Given the description of an element on the screen output the (x, y) to click on. 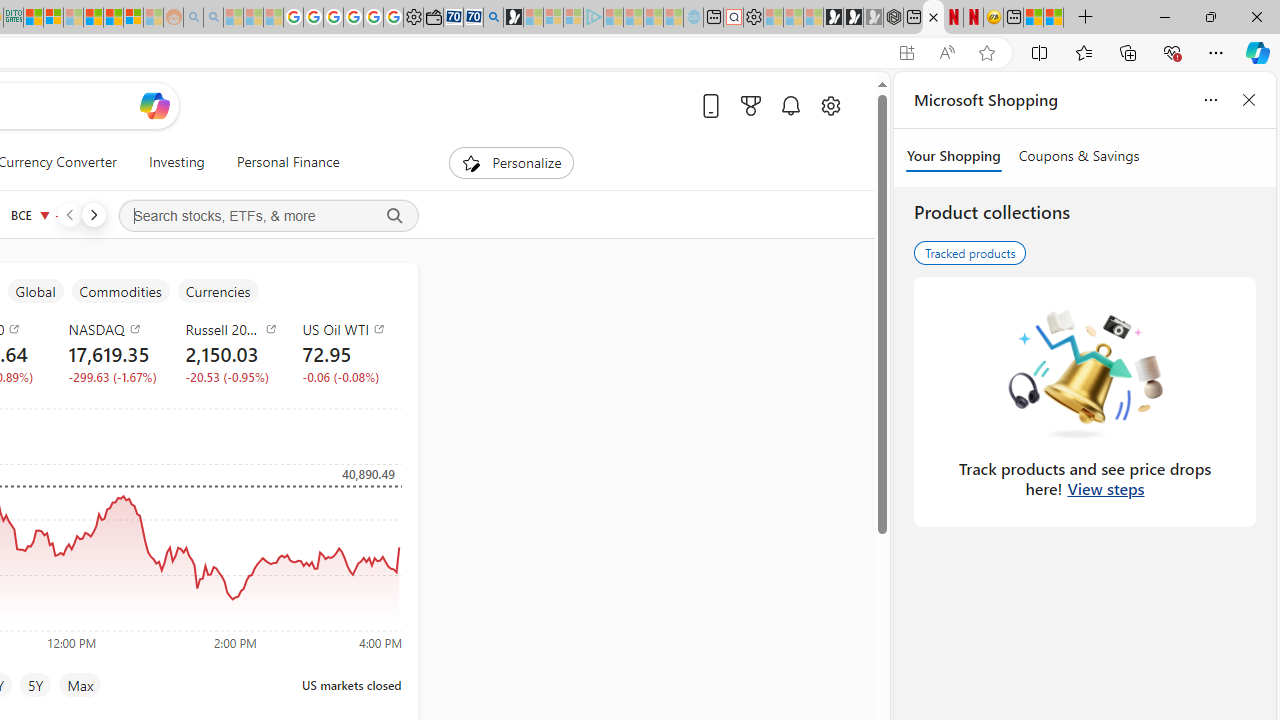
Personalize (511, 162)
item3 (35, 291)
item4 (120, 291)
Russell 2000 RUT decrease 2,150.03 -20.53 -0.95% (228, 351)
